Given the description of an element on the screen output the (x, y) to click on. 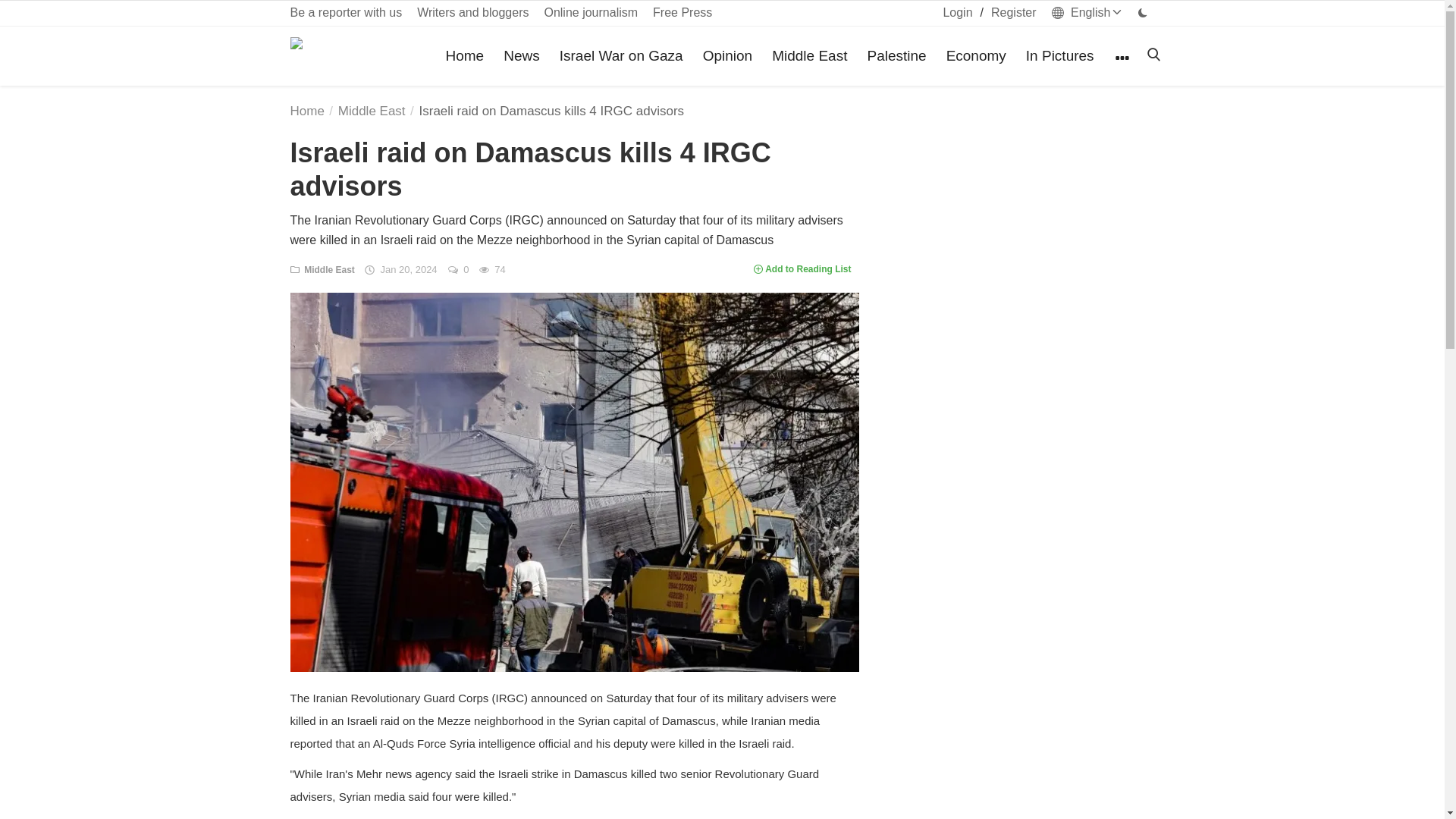
Register (1013, 12)
Writers and bloggers (472, 12)
Home (465, 55)
Opinion (727, 55)
Free Press (682, 12)
Login (956, 12)
In Pictures (1059, 55)
English (1087, 11)
Be a reporter with us (345, 12)
Palestine (896, 55)
Online journalism (590, 12)
Israel War on Gaza (620, 55)
Economy (976, 55)
Middle East (809, 55)
dark (1141, 12)
